Given the description of an element on the screen output the (x, y) to click on. 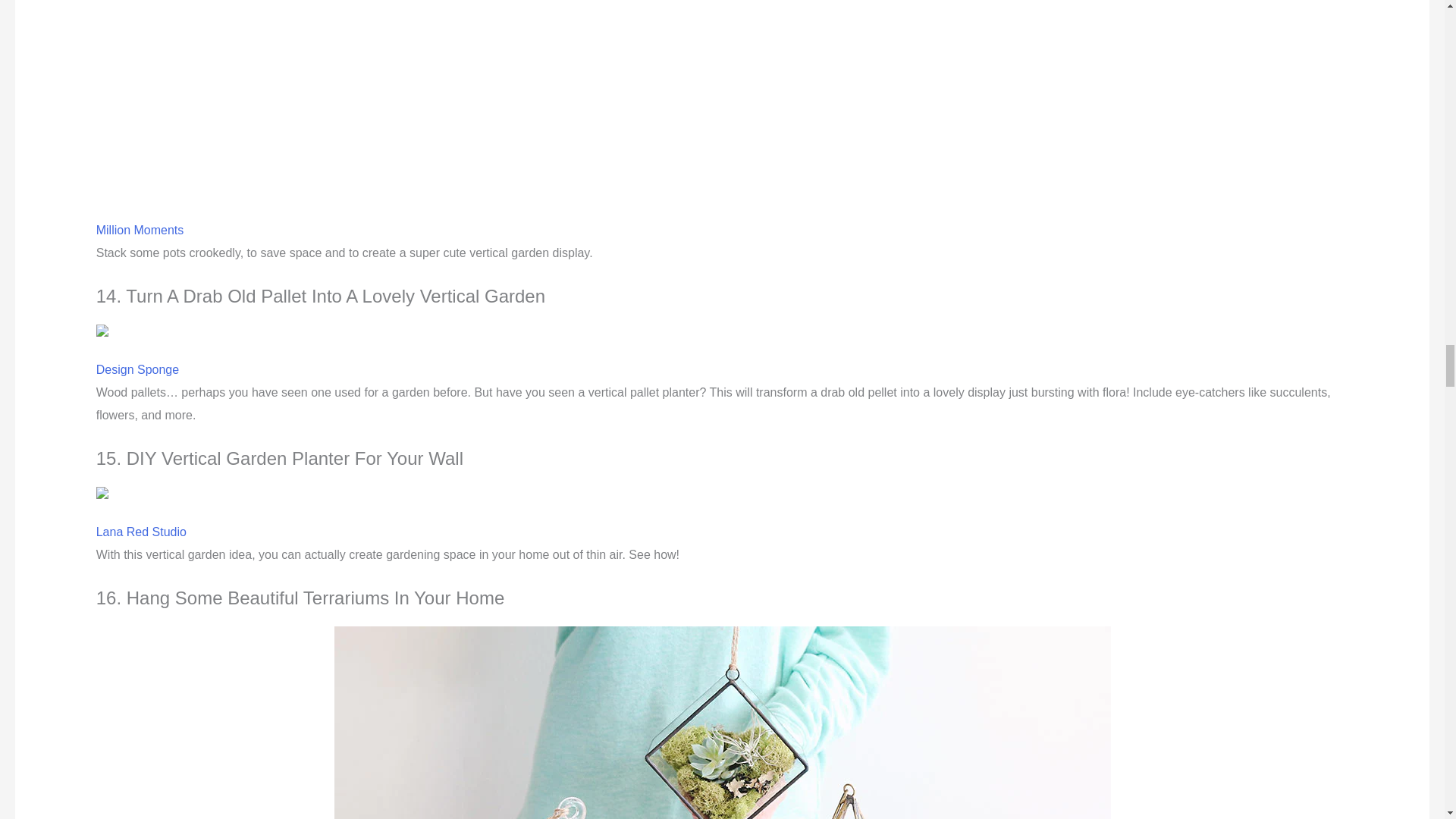
Million Moments (140, 229)
Design Sponge (137, 369)
Lana Red Studio (141, 531)
